Given the description of an element on the screen output the (x, y) to click on. 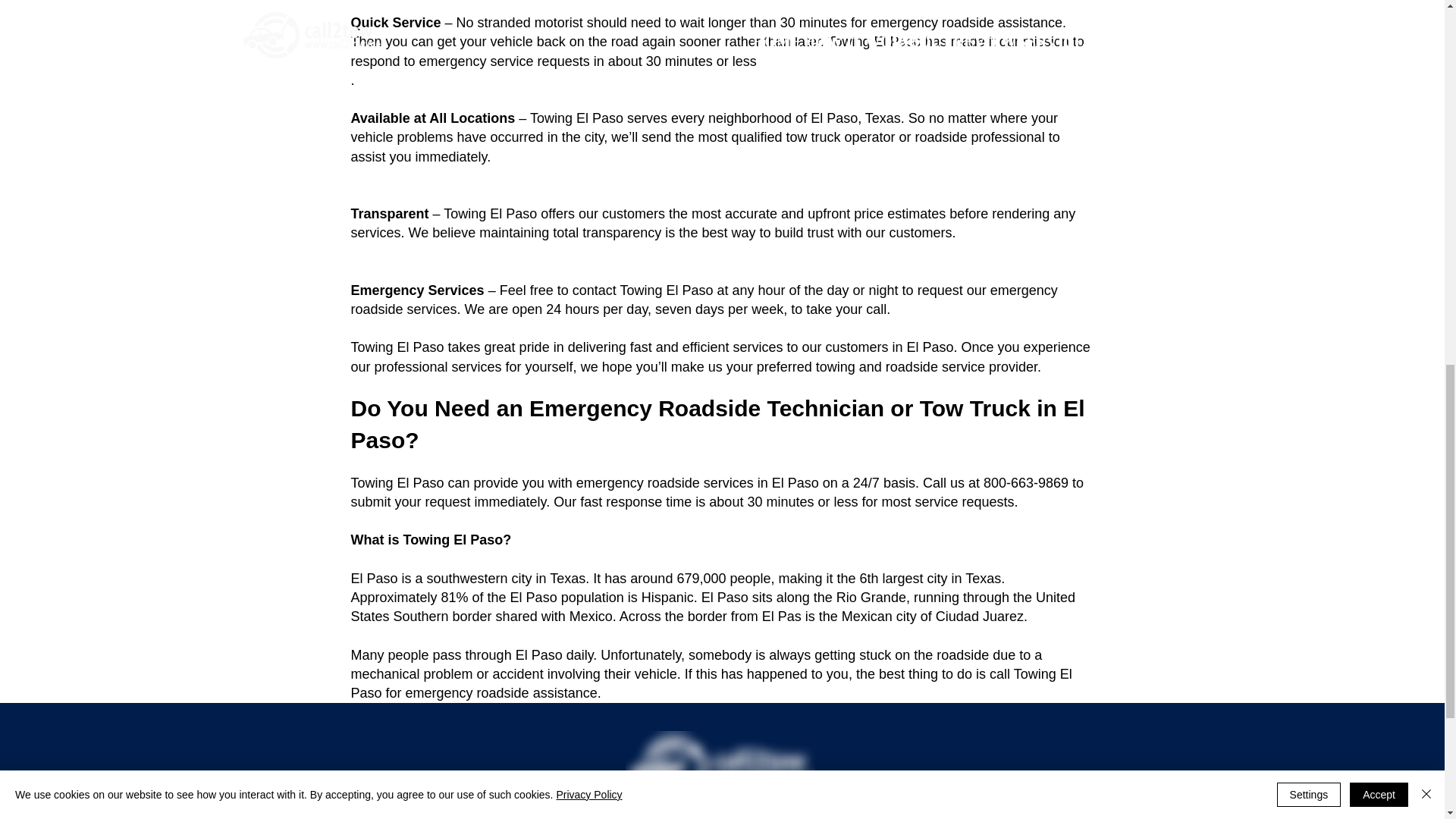
Call2Tow (718, 767)
